Given the description of an element on the screen output the (x, y) to click on. 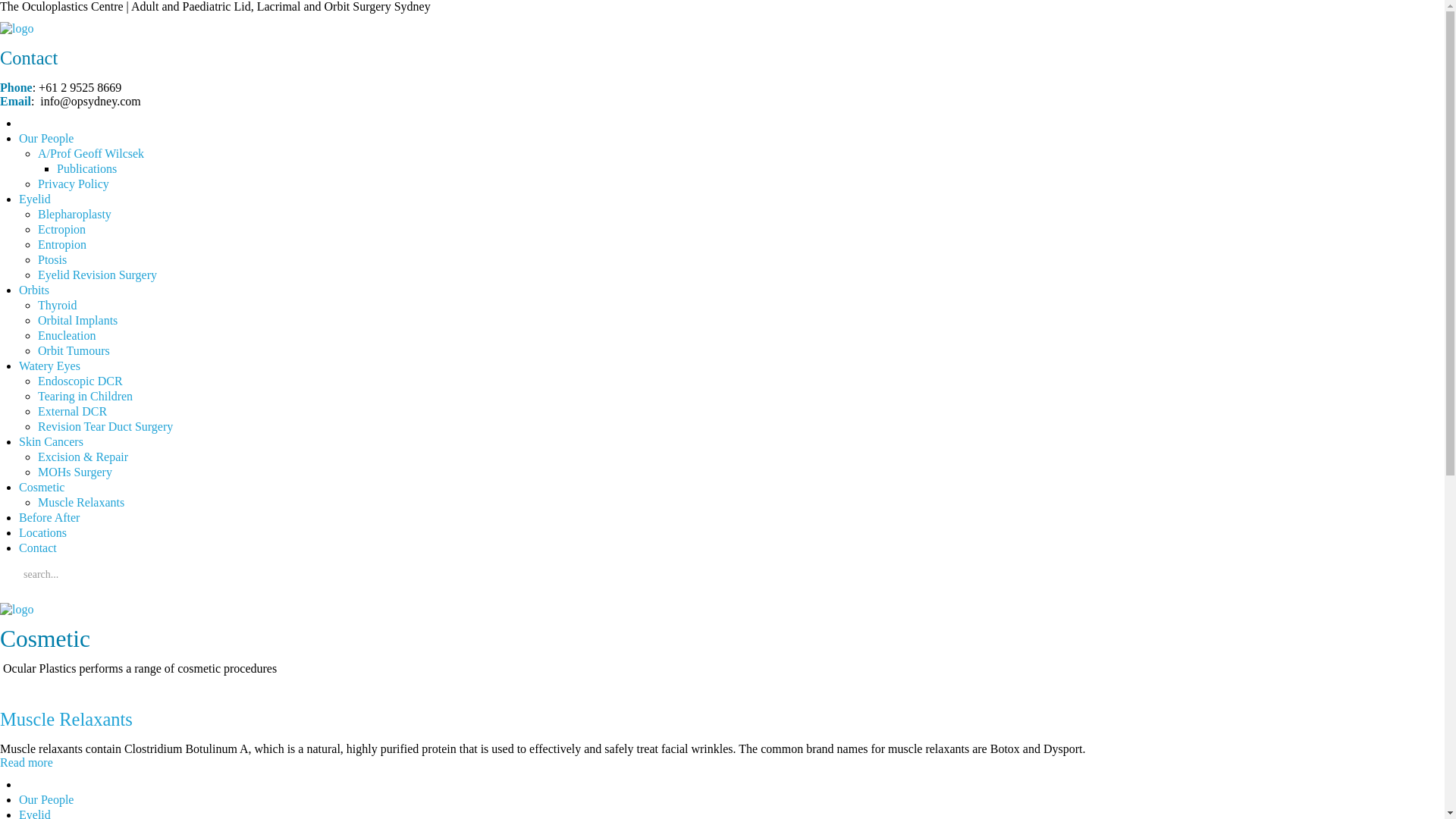
Orbits Element type: text (33, 289)
Watery Eyes Element type: text (49, 365)
Orbital Implants Element type: text (77, 319)
Cosmetic Element type: text (41, 486)
Privacy Policy Element type: text (73, 183)
Our People Element type: text (45, 137)
Eyelid Revision Surgery Element type: text (96, 274)
Muscle Relaxants Element type: text (66, 719)
Enucleation Element type: text (66, 335)
Blepharoplasty Element type: text (74, 213)
MOHs Surgery Element type: text (74, 471)
Contact Element type: text (37, 547)
Entropion Element type: text (61, 244)
Muscle Relaxants Element type: text (80, 501)
Ectropion Element type: text (61, 228)
Before After Element type: text (48, 517)
Thyroid Element type: text (57, 304)
Eyelid Element type: text (34, 198)
A/Prof Geoff Wilcsek Element type: text (90, 153)
Our People Element type: text (45, 799)
Endoscopic DCR Element type: text (79, 380)
Skin Cancers Element type: text (50, 441)
Locations Element type: text (42, 532)
Publications Element type: text (86, 168)
External DCR Element type: text (71, 410)
Excision & Repair Element type: text (82, 456)
Ptosis Element type: text (51, 259)
Revision Tear Duct Surgery Element type: text (104, 426)
Read more Element type: text (26, 762)
Tearing in Children Element type: text (84, 395)
Orbit Tumours Element type: text (73, 350)
